Given the description of an element on the screen output the (x, y) to click on. 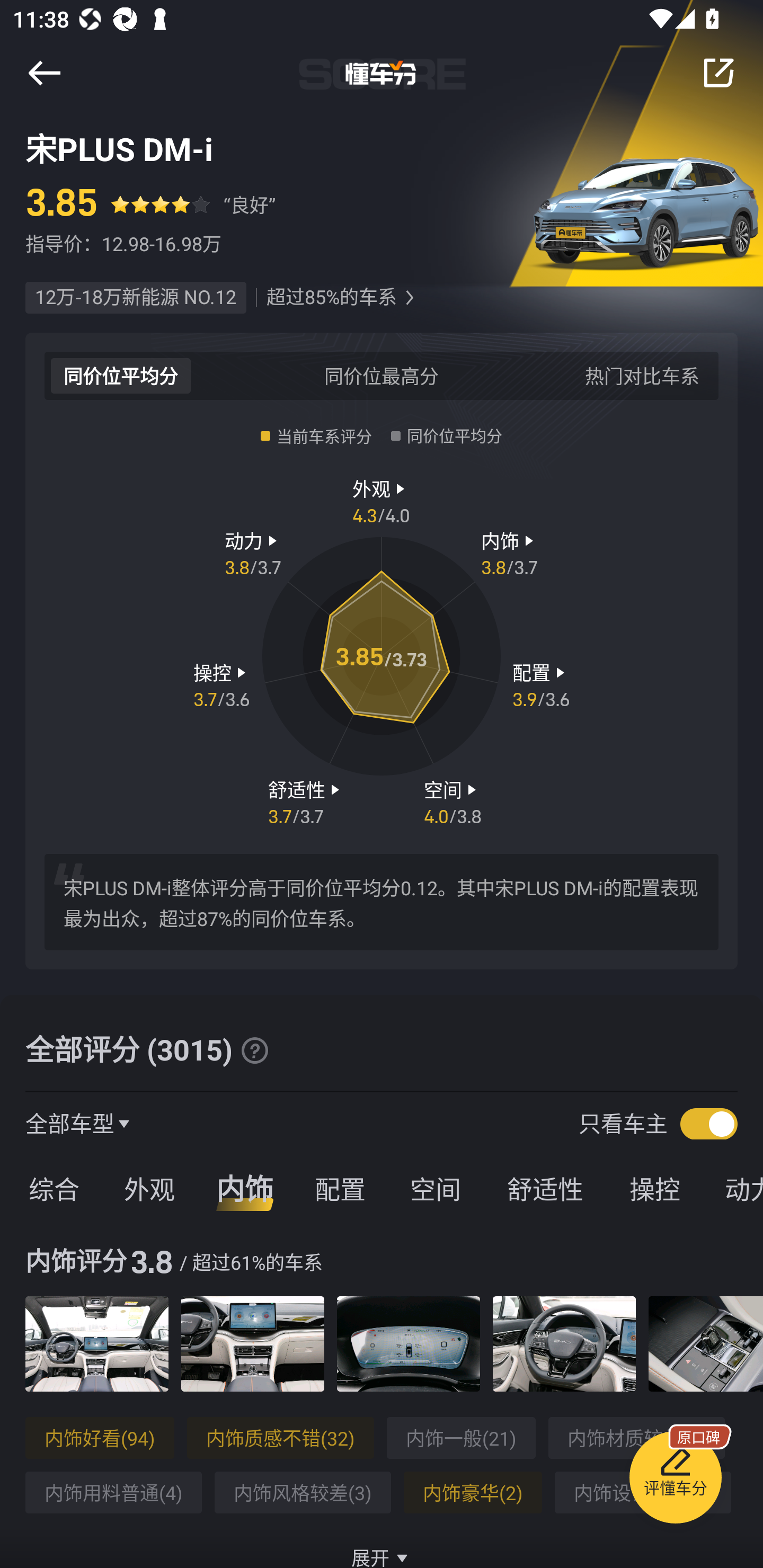
 (44, 72)
 (718, 72)
超过85%的车系 (331, 297)
 (408, 297)
同价位平均分 (120, 375)
同价位最高分 (381, 375)
热门对比车系 (641, 375)
外观  4.3 / 4.0 (381, 500)
动力  3.8 / 3.7 (252, 552)
内饰  3.8 / 3.7 (509, 552)
操控  3.7 / 3.6 (221, 685)
配置  3.9 / 3.6 (540, 685)
舒适性  3.7 / 3.7 (305, 801)
空间  4.0 / 3.8 (452, 801)
 (254, 1050)
全部车型 (69, 1123)
综合 (50, 1188)
外观 (148, 1188)
配置 (339, 1188)
空间 (434, 1188)
舒适性 (544, 1188)
操控 (654, 1188)
内饰好看(94) (99, 1437)
内饰质感不错(32) (279, 1437)
内饰一般(21) (460, 1437)
 评懂车分 原口碑 (675, 1480)
内饰用料普通(4) (113, 1492)
内饰风格较差(3) (302, 1492)
内饰豪华(2) (472, 1492)
展开  (381, 1546)
